Given the description of an element on the screen output the (x, y) to click on. 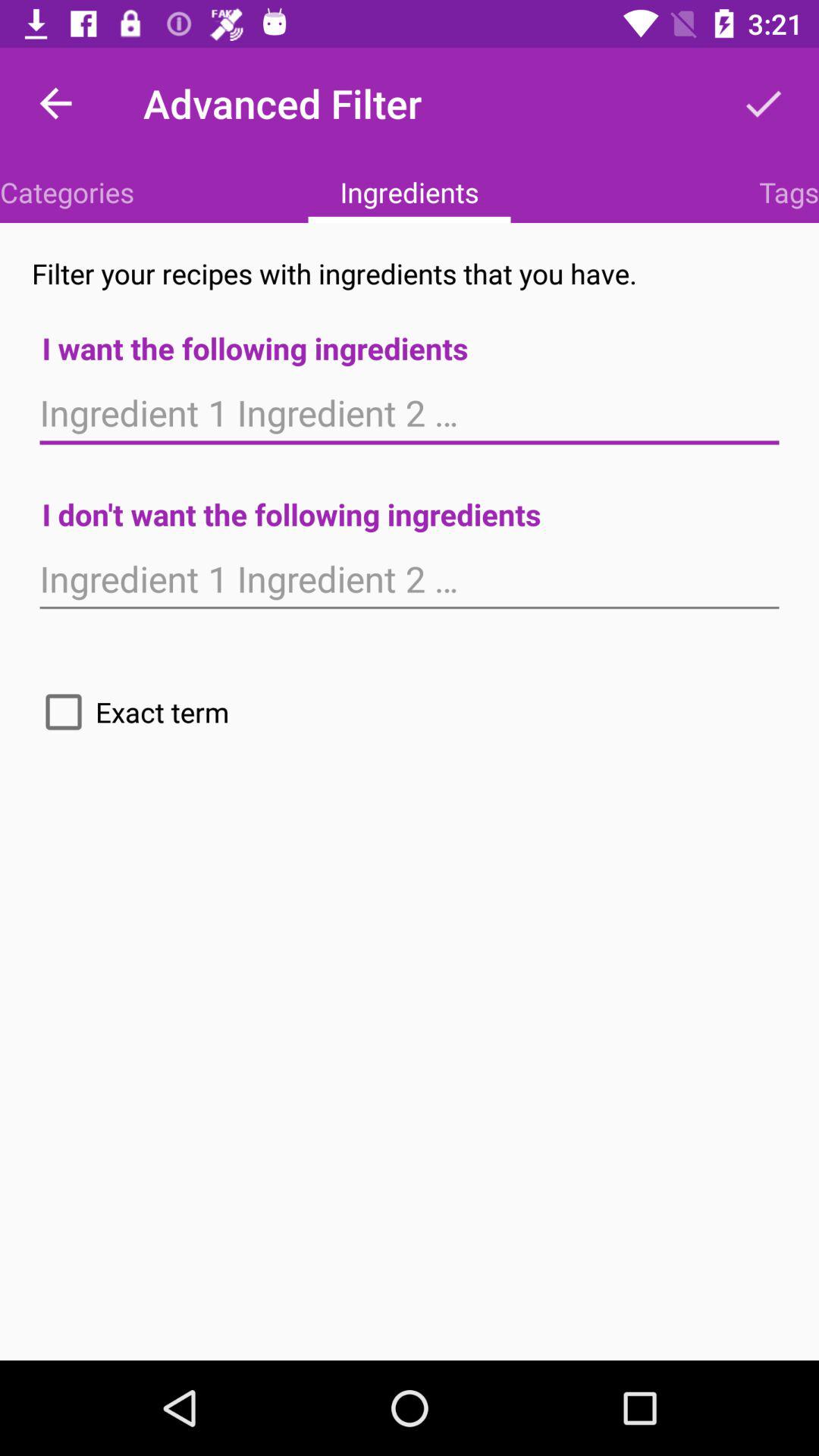
select icon on the left (130, 711)
